Given the description of an element on the screen output the (x, y) to click on. 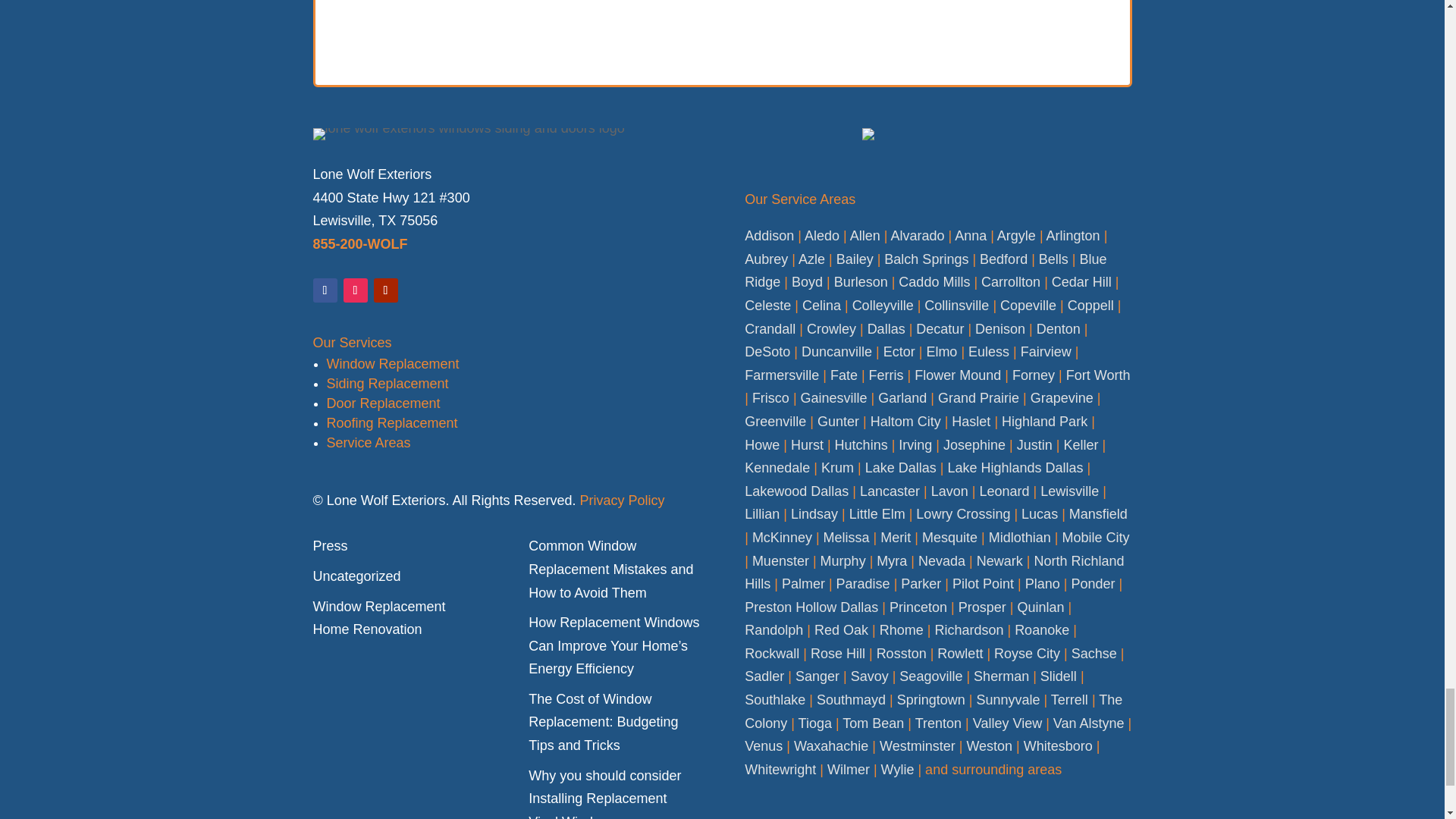
lone wolf exteriors windows siding and doors logo (468, 133)
Follow on Facebook (324, 290)
Follow on Youtube (384, 290)
Follow on Instagram (354, 290)
